Given the description of an element on the screen output the (x, y) to click on. 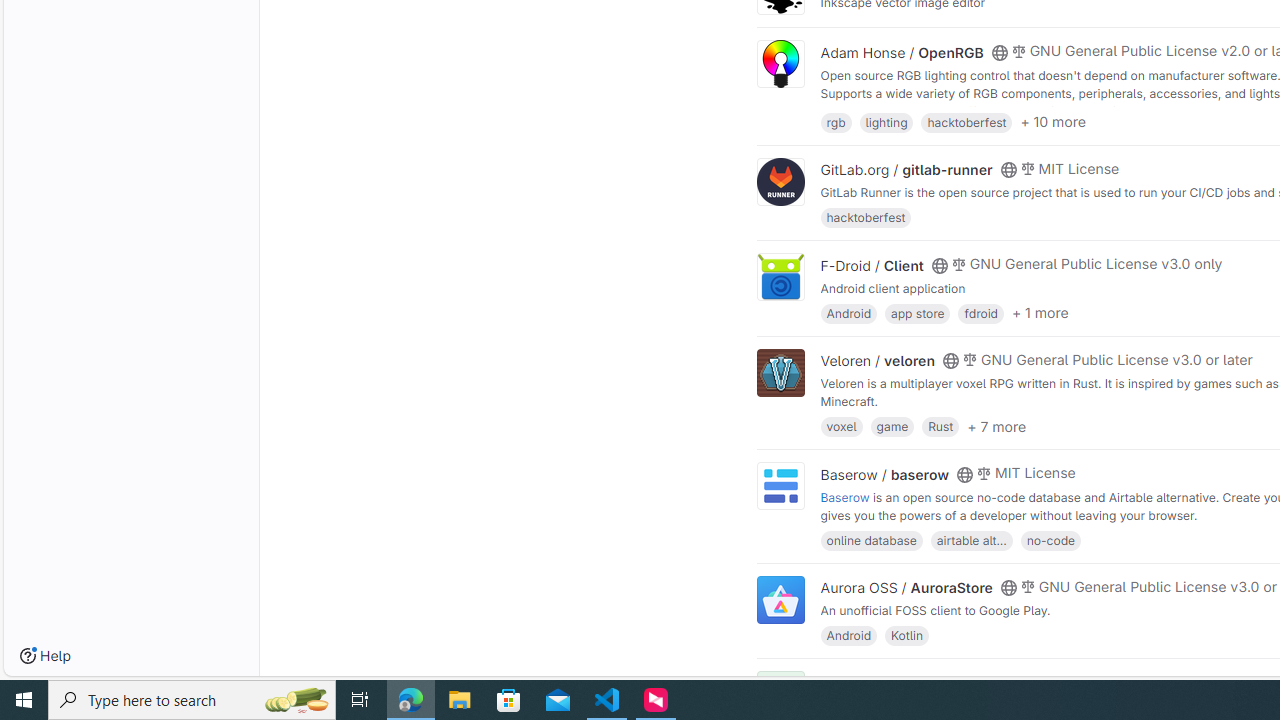
game (892, 426)
+ 7 more (996, 425)
voxel (841, 426)
Rust (940, 426)
Baserow / baserow (884, 474)
app store (917, 312)
fdroid (980, 312)
Baserow (845, 496)
no-code (1050, 539)
airtable alt... (971, 539)
+ 1 more (1039, 313)
lighting (886, 120)
hacktoberfest (866, 217)
Adam Honse / OpenRGB (902, 52)
Class: s14 gl-mr-2 (1018, 681)
